Given the description of an element on the screen output the (x, y) to click on. 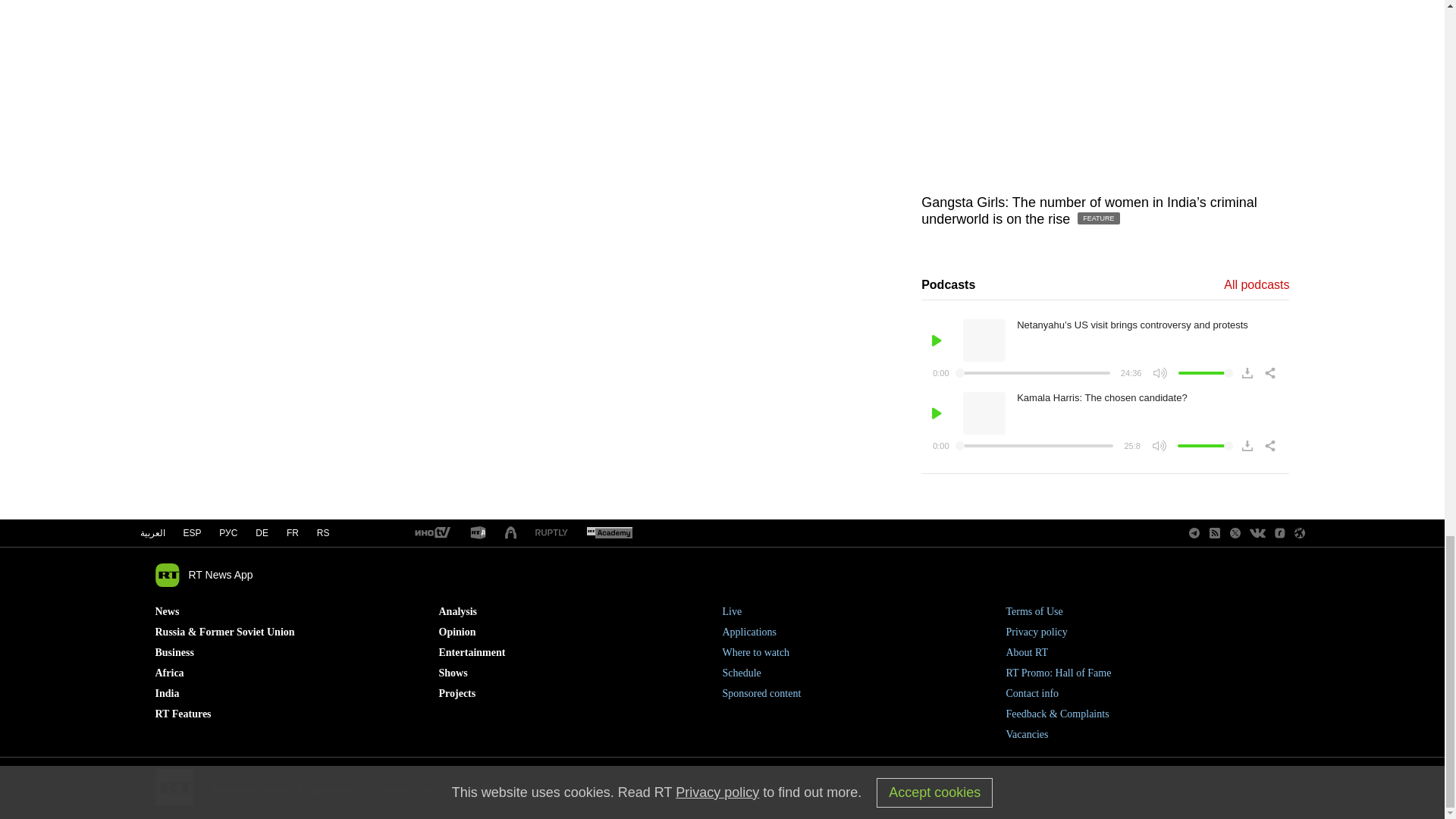
RT  (551, 533)
RT  (431, 533)
RT  (608, 533)
RT  (478, 533)
RT  (510, 533)
